Given the description of an element on the screen output the (x, y) to click on. 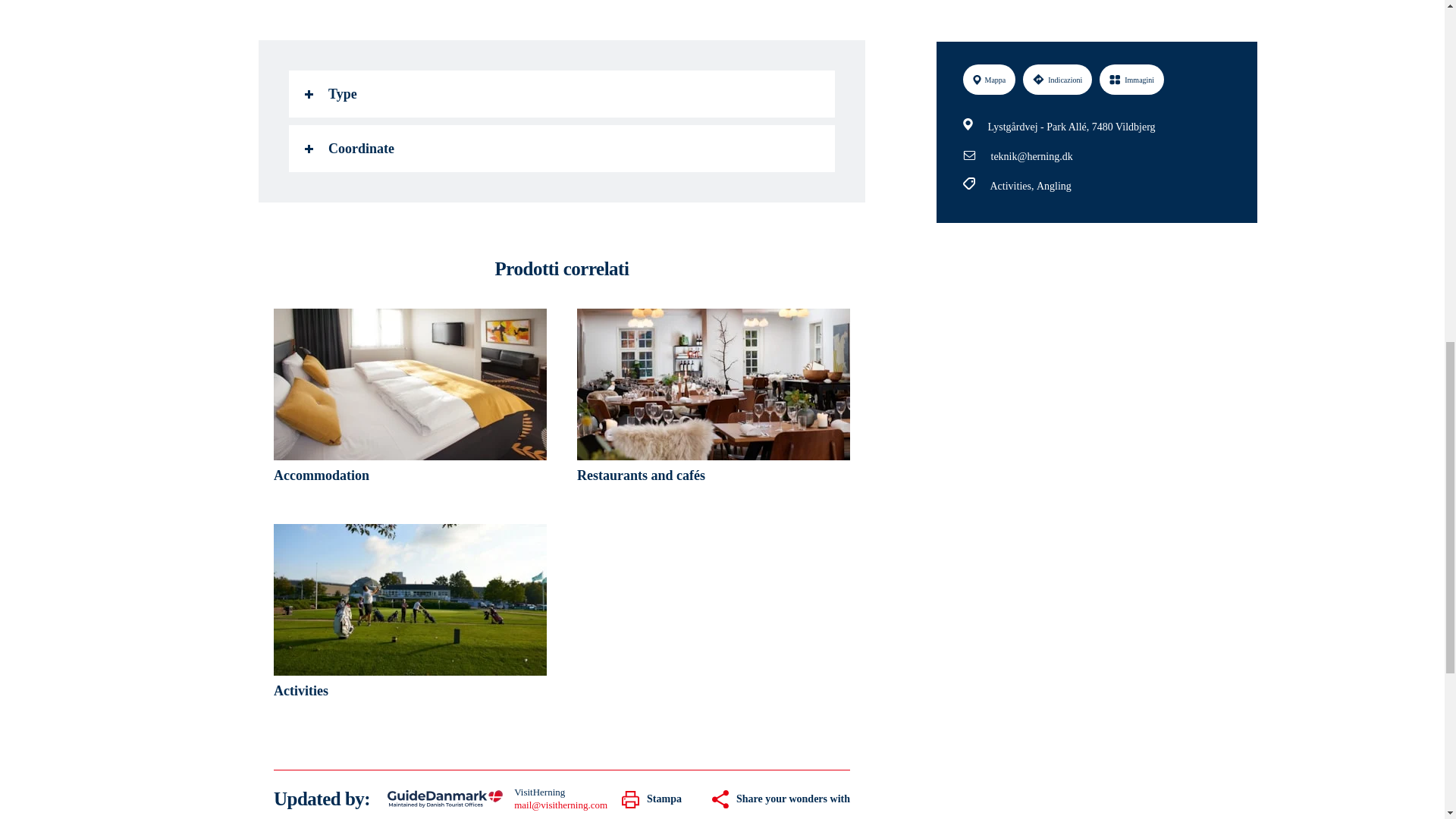
Type (561, 93)
Activities (410, 616)
Coordinate (561, 148)
Accommodation (410, 400)
